Given the description of an element on the screen output the (x, y) to click on. 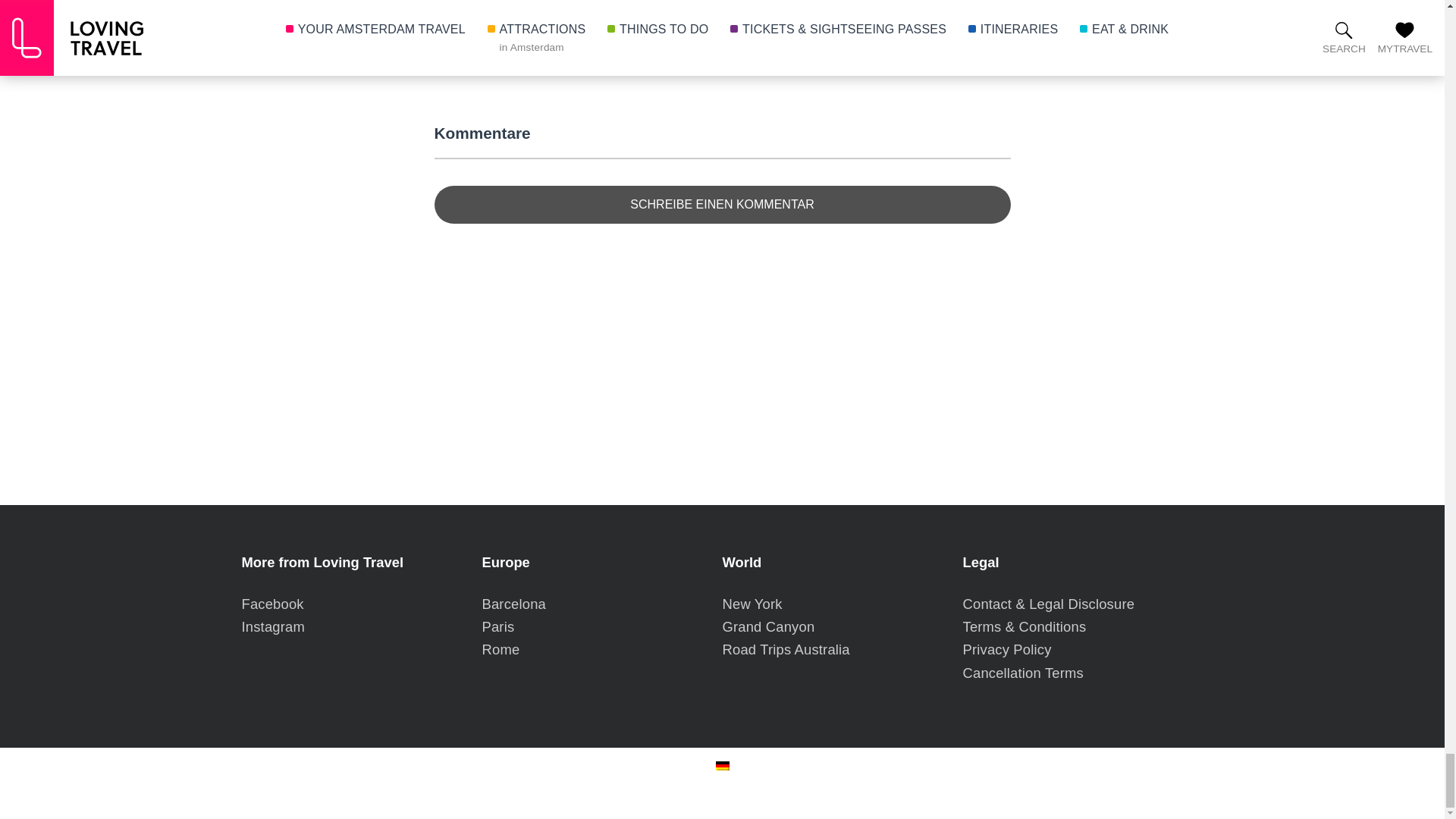
Register now (721, 17)
